Given the description of an element on the screen output the (x, y) to click on. 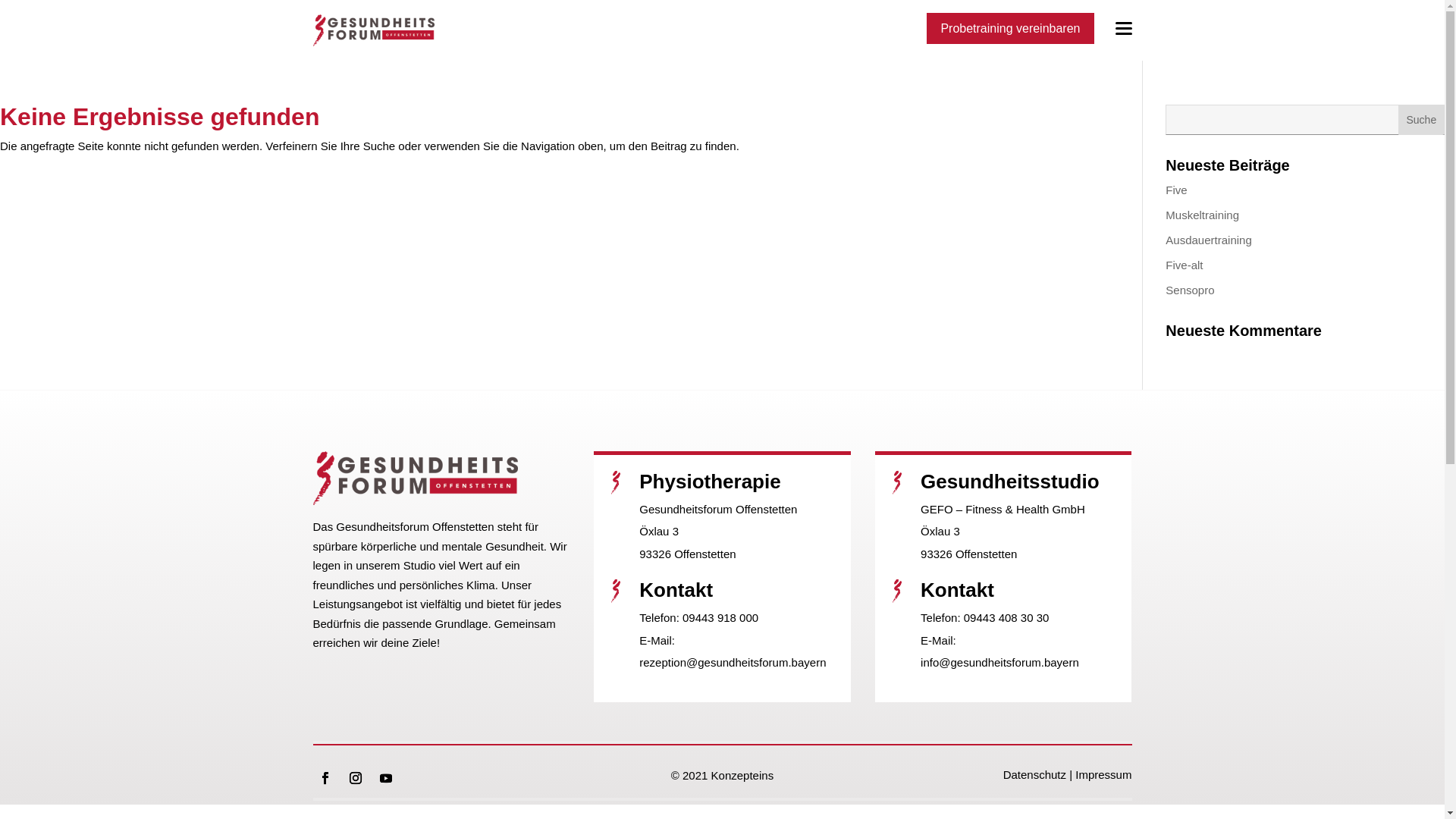
93326 Offenstetten Element type: text (968, 553)
Suche Element type: text (1421, 119)
Datenschutz Element type: text (1034, 774)
Muskeltraining Element type: text (1202, 214)
09443 408 30 30 Element type: text (1006, 617)
Ausdauertraining Element type: text (1208, 239)
Folge auf Facebook Element type: hover (324, 777)
Five-alt Element type: text (1183, 264)
Folge auf Youtube Element type: hover (385, 777)
Five Element type: text (1175, 189)
93326 Offenstetten Element type: text (687, 553)
gesundheitsforum-offenstetten-logo Element type: hover (414, 477)
Sensopro Element type: text (1189, 289)
gesundheitsforum-offenstetten-logo Element type: hover (372, 30)
09443 918 000 Element type: text (720, 617)
Impressum Element type: text (1103, 774)
rezeption@gesundheitsforum.bayern Element type: text (732, 661)
info@gesundheitsforum.bayern Element type: text (999, 661)
Konzepteins Element type: text (742, 774)
Gesundheitsforum Offenstetten Element type: text (718, 508)
Folge auf Instagram Element type: hover (354, 777)
Probetraining vereinbaren Element type: text (1009, 27)
